Given the description of an element on the screen output the (x, y) to click on. 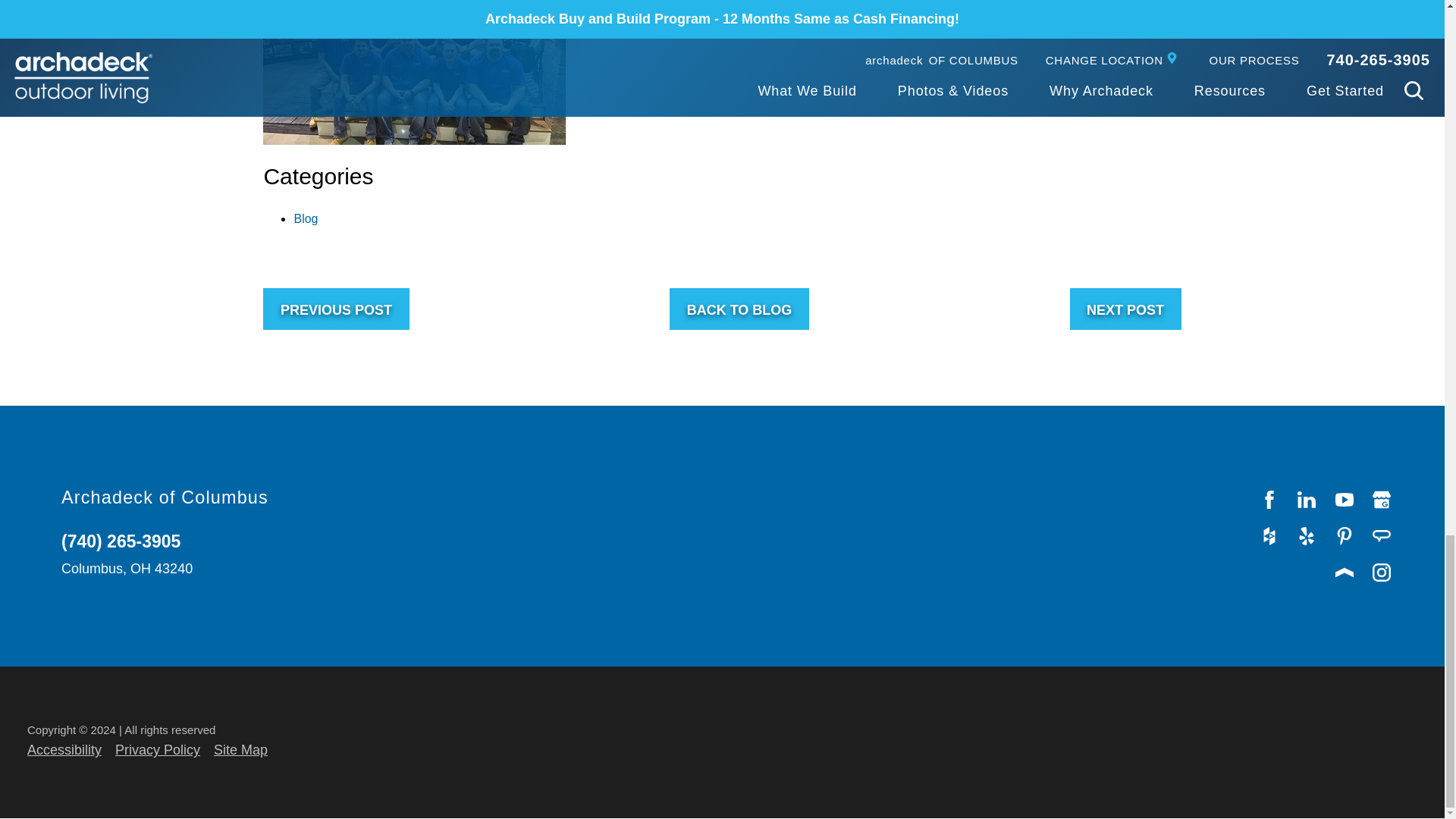
Porch (1345, 572)
Facebook (1269, 499)
Pinterest (1345, 535)
Google My Business (1381, 499)
Yelp (1307, 535)
YouTube (1345, 499)
LinkedIn (1307, 499)
Houzz (1269, 535)
Instagram (1381, 572)
Angie's List (1381, 535)
